Given the description of an element on the screen output the (x, y) to click on. 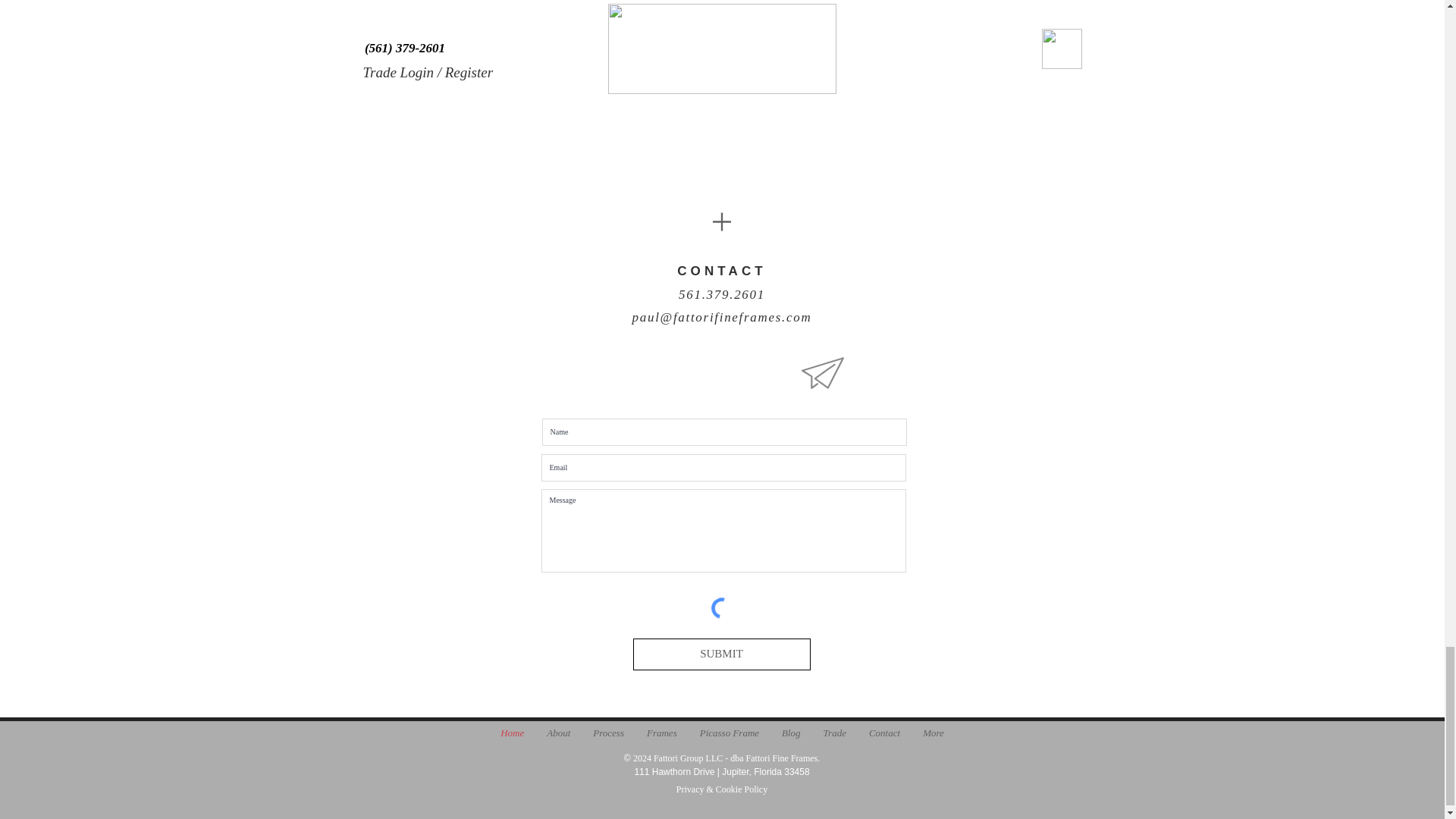
561.379.2601 (721, 294)
Home (512, 736)
Picasso Frame (729, 736)
Process (607, 736)
SUBMIT (720, 654)
Trade (834, 736)
About (557, 736)
Frames (661, 736)
Contact (884, 736)
Blog (791, 736)
